Given the description of an element on the screen output the (x, y) to click on. 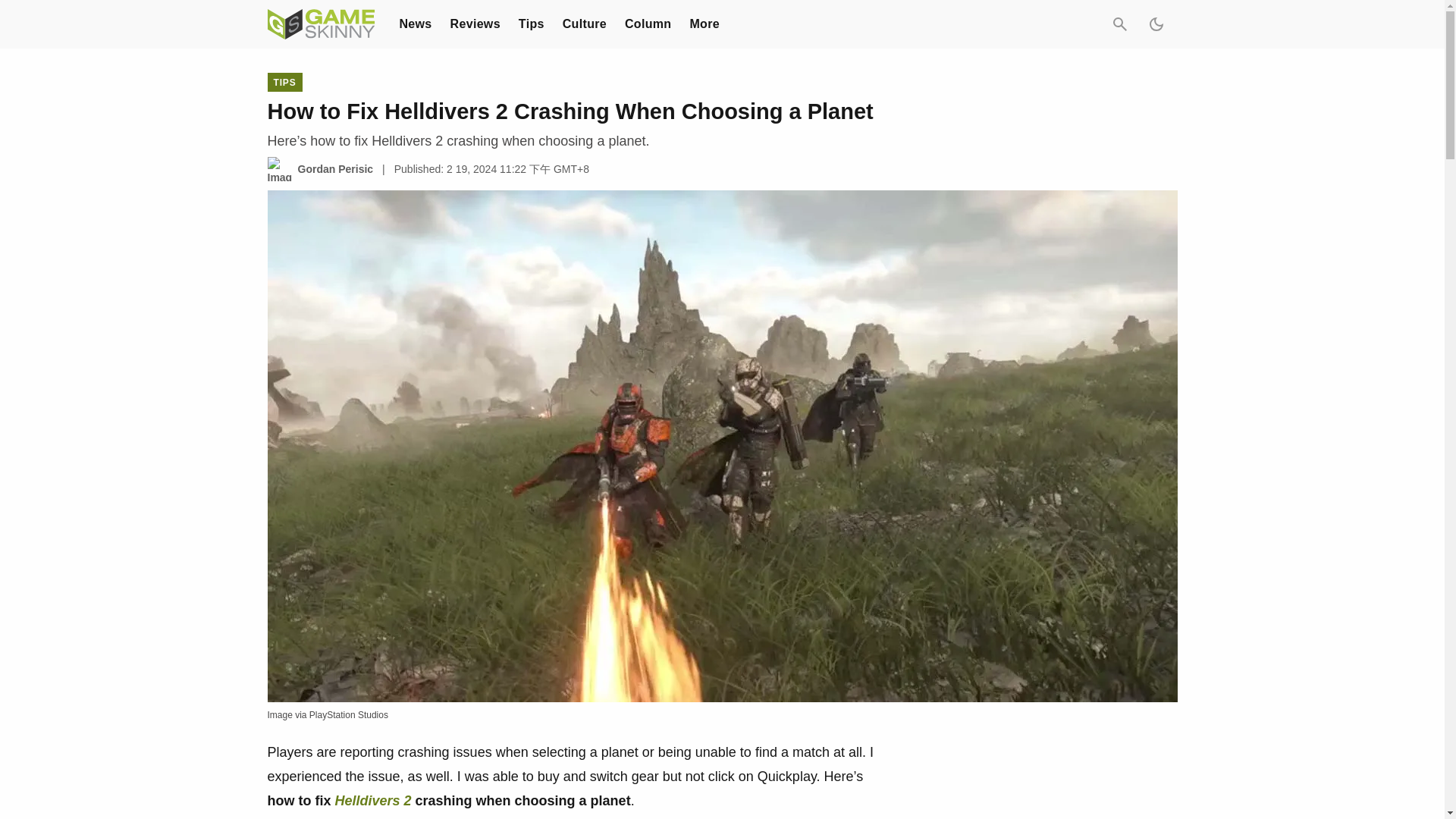
Search (1118, 24)
Dark Mode (1155, 24)
Culture (584, 23)
Reviews (474, 23)
Tips (531, 23)
Column (647, 23)
News (414, 23)
